Given the description of an element on the screen output the (x, y) to click on. 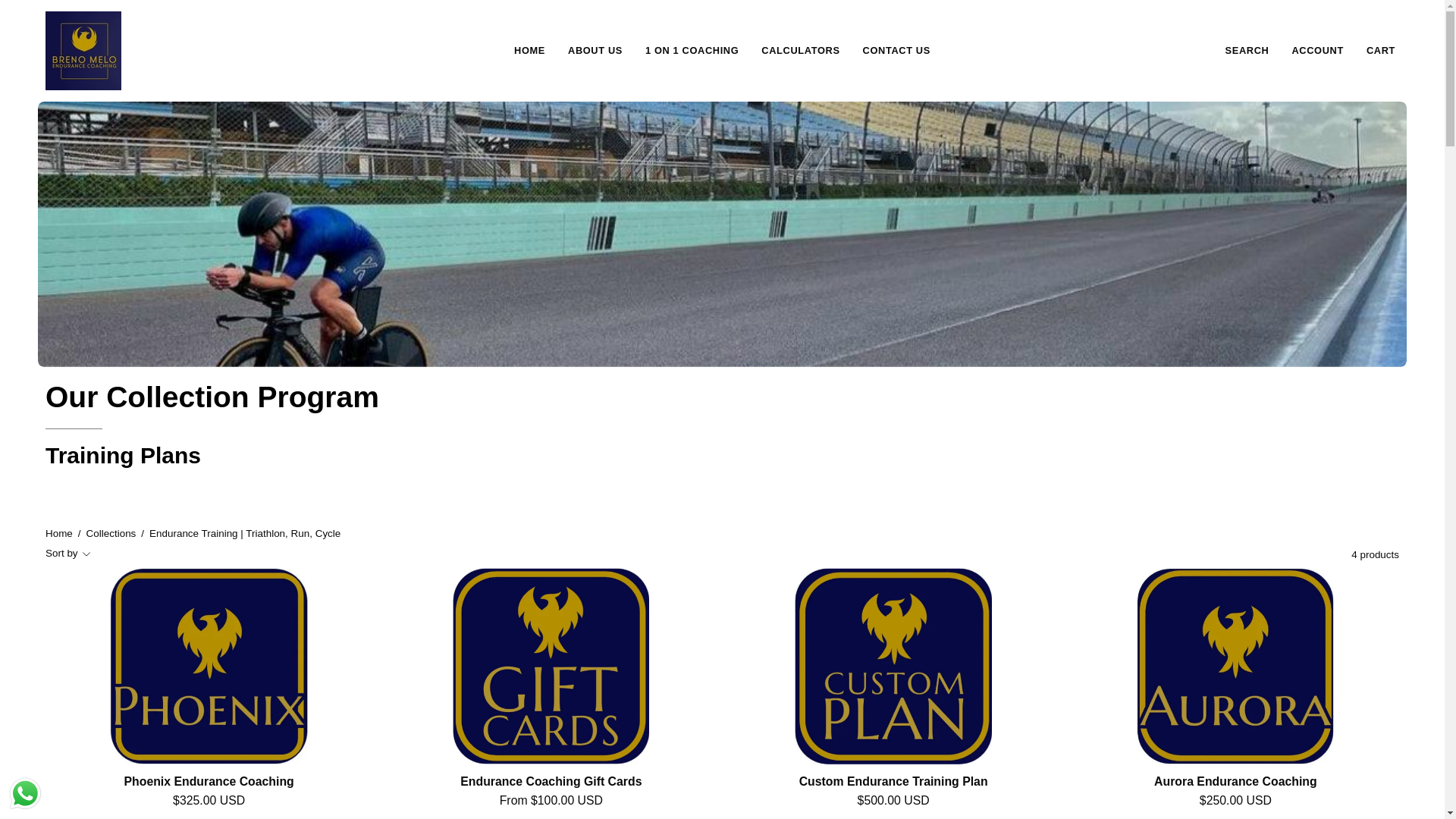
Go back to Home page (58, 534)
CALCULATORS (799, 50)
1 ON 1 COACHING (691, 50)
